Given the description of an element on the screen output the (x, y) to click on. 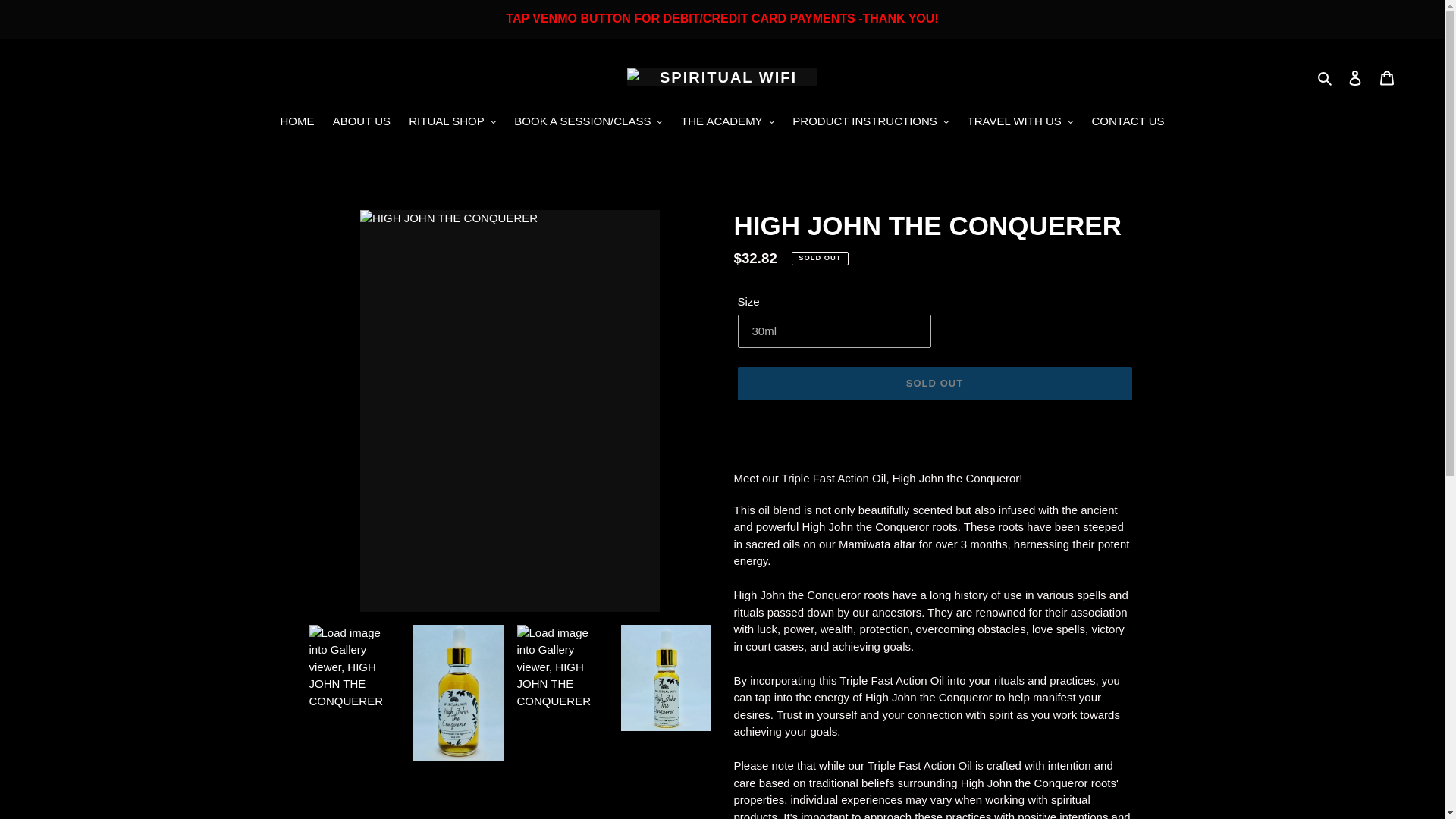
Cart (1387, 77)
Log in (1355, 77)
Search (1326, 76)
